Given the description of an element on the screen output the (x, y) to click on. 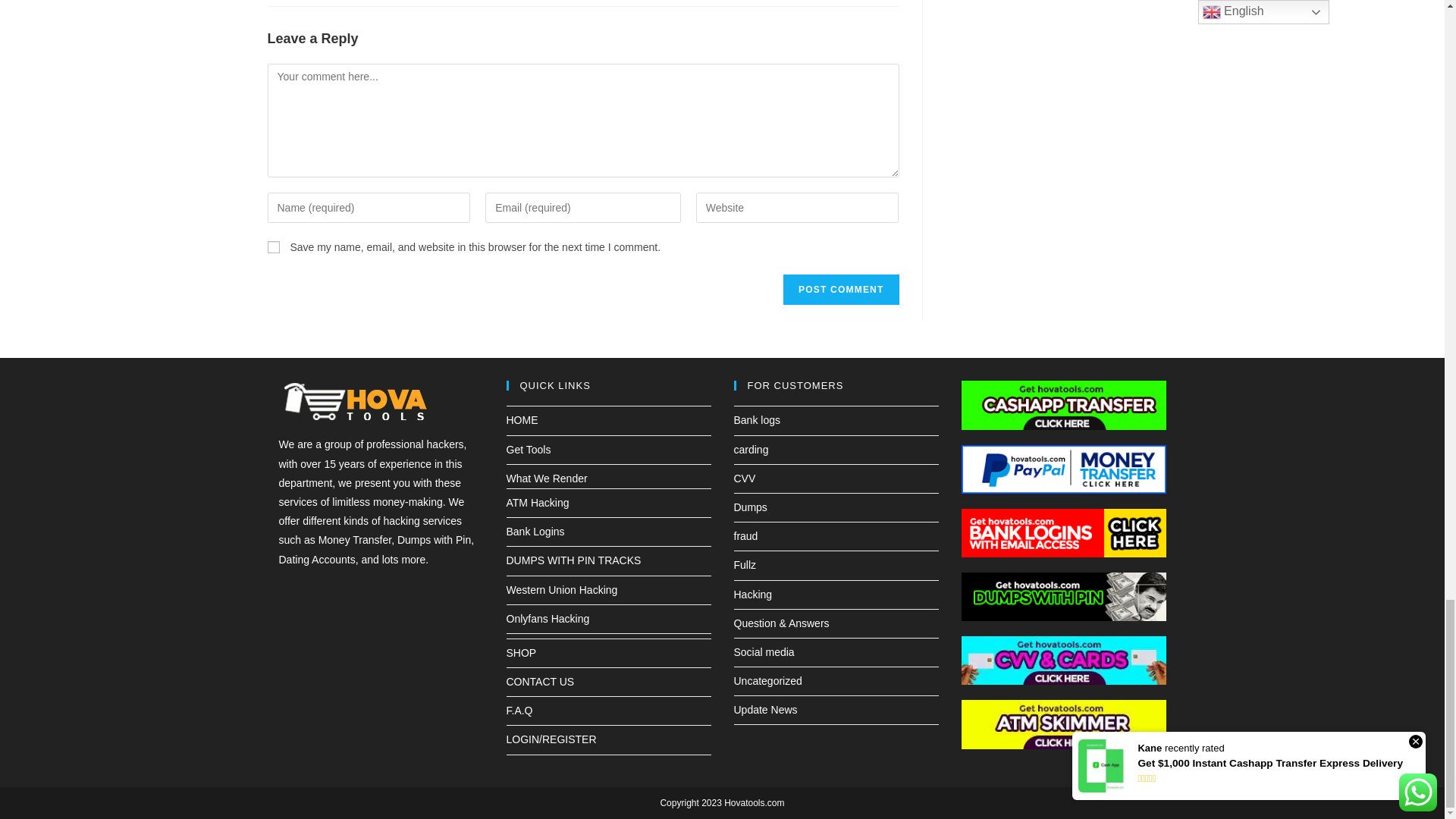
Post Comment (840, 289)
yes (272, 246)
